Given the description of an element on the screen output the (x, y) to click on. 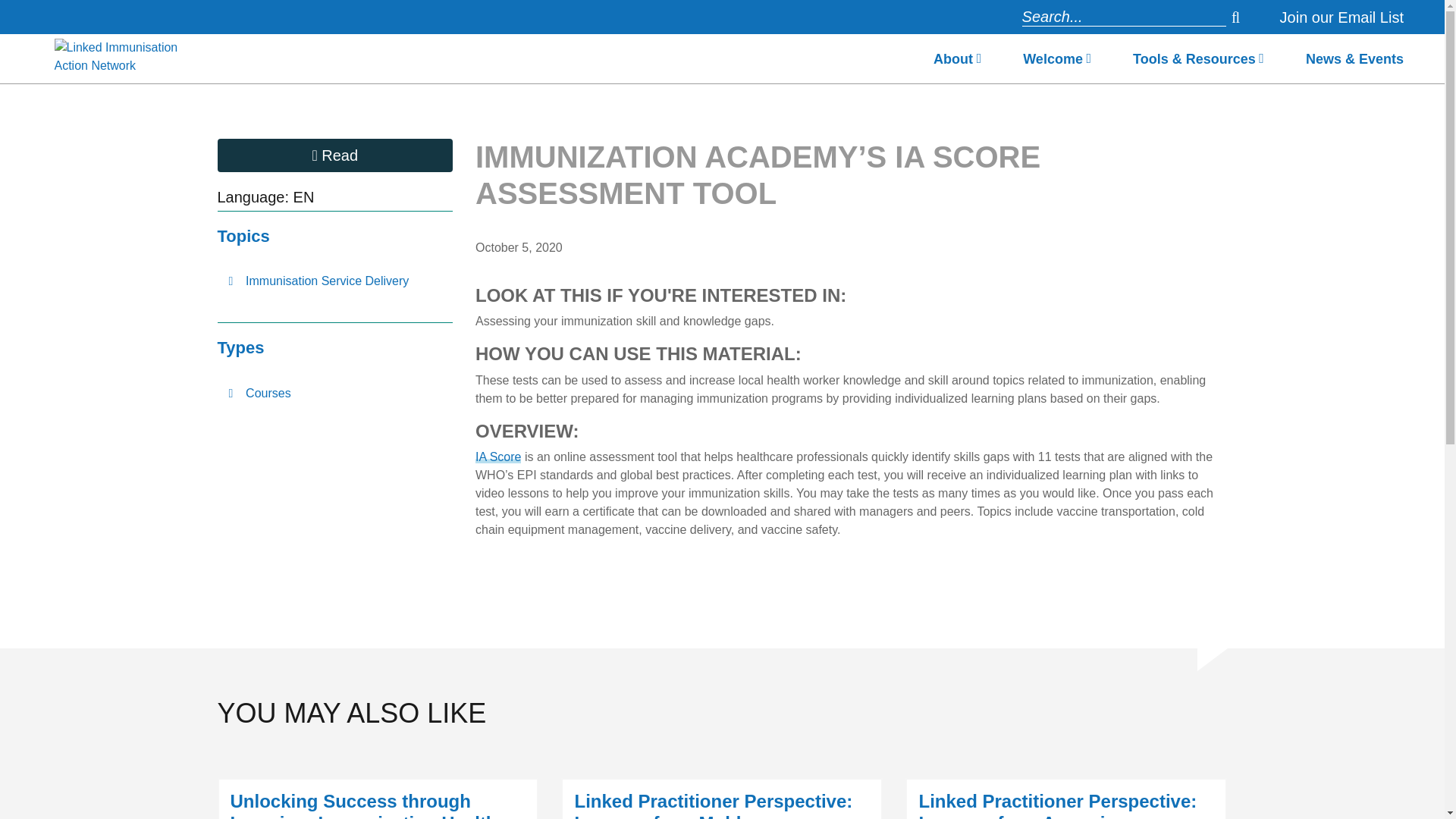
Linked Immunisation Action Network (125, 58)
About (957, 63)
courses (335, 393)
Immunisation Service Delivery (335, 280)
Welcome (1056, 63)
Welcome (1056, 63)
About (957, 63)
Join our Email List (1341, 17)
IA Score (498, 456)
